Given the description of an element on the screen output the (x, y) to click on. 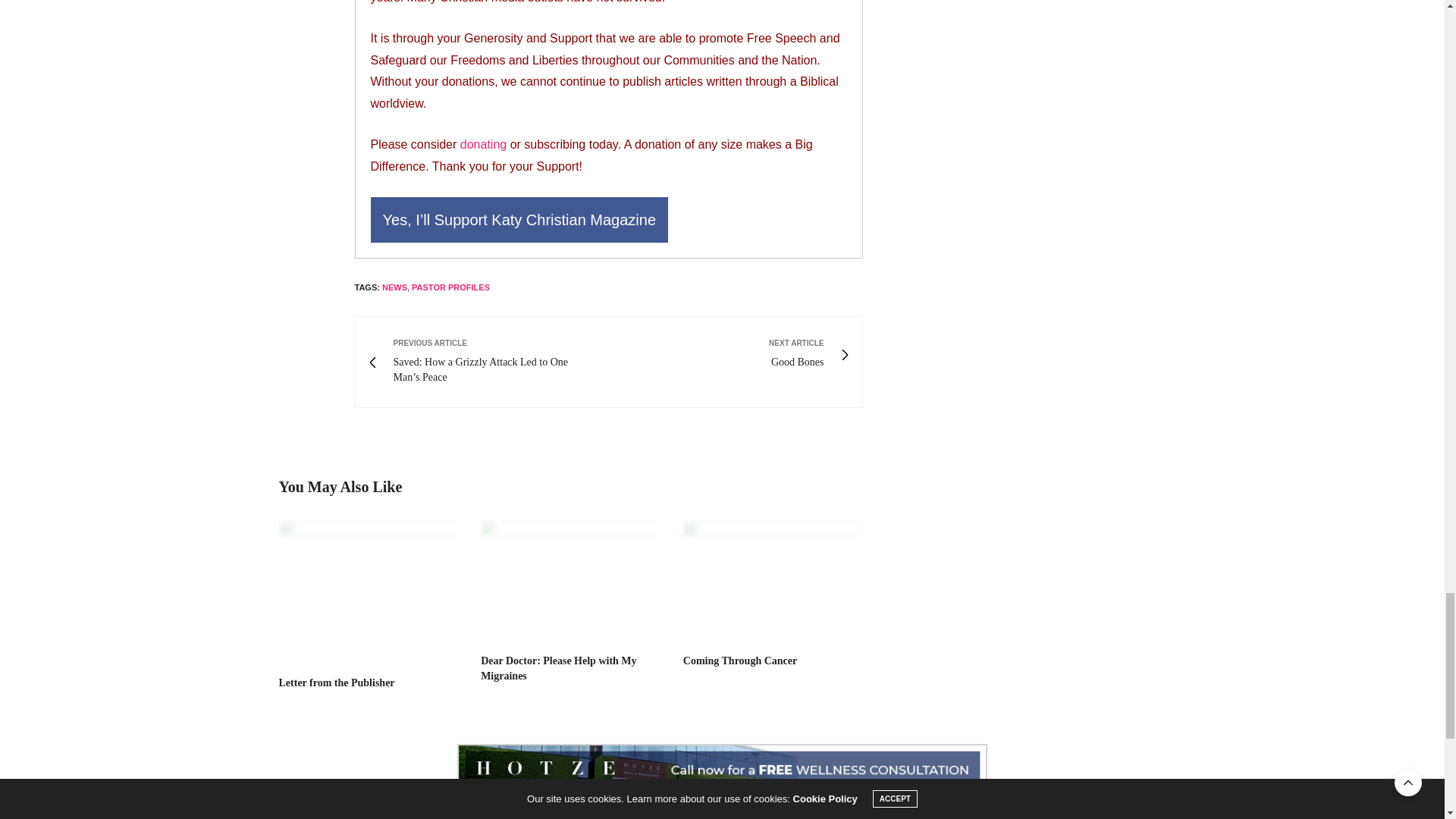
Coming Through Cancer (739, 660)
Letter from the Publisher (368, 590)
Dear Doctor: Please Help with My Migraines (570, 579)
Letter from the Publisher (336, 682)
Dear Doctor: Please Help with My Migraines (558, 668)
Coming Through Cancer (772, 579)
